Given the description of an element on the screen output the (x, y) to click on. 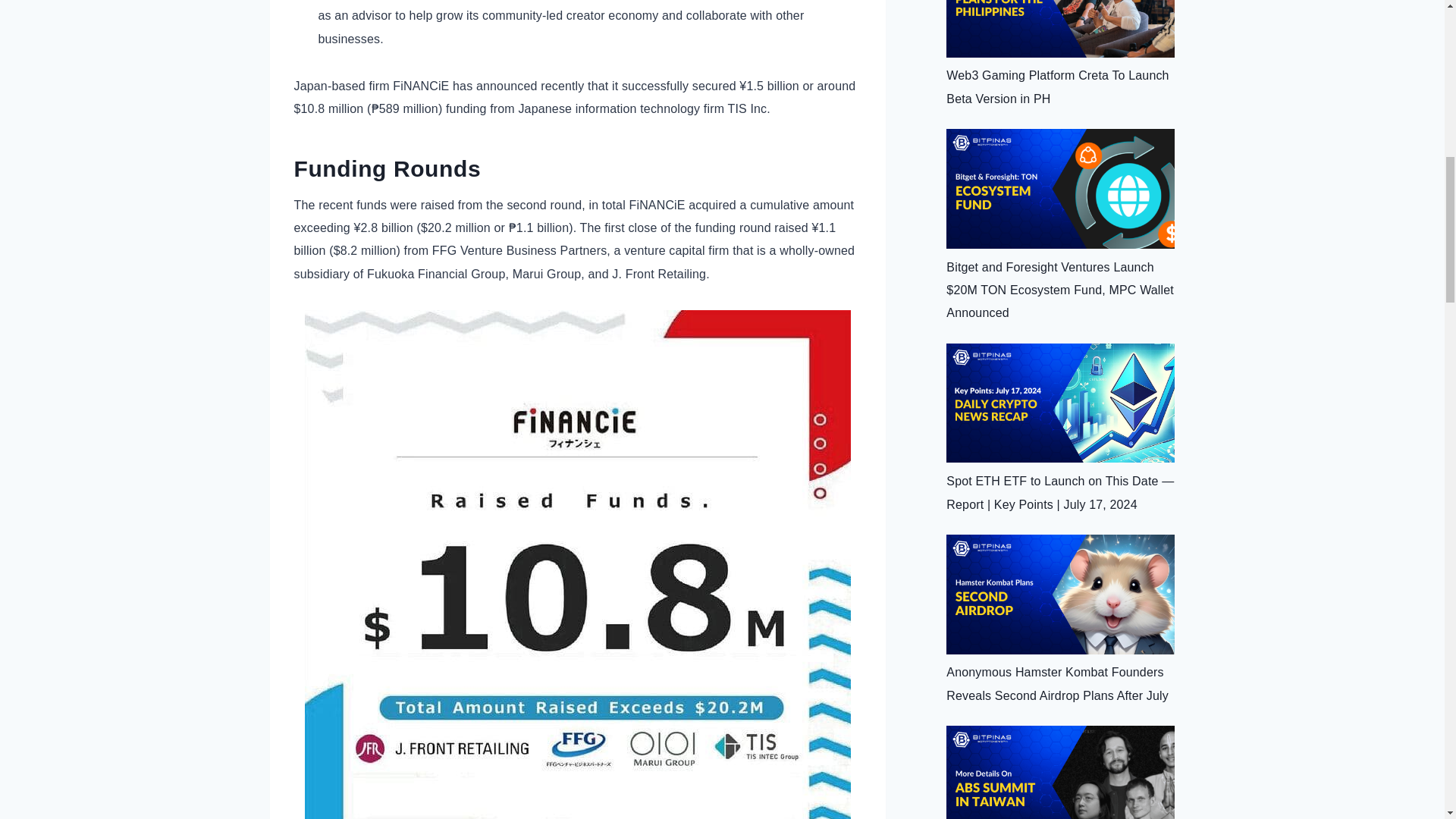
Taiwan to Emerge as an Asia Web3 Hub at ABS 2024 in August 7 (1060, 772)
Web3 Gaming Platform Creta To Launch Beta Version in PH 3 (1060, 28)
